Given the description of an element on the screen output the (x, y) to click on. 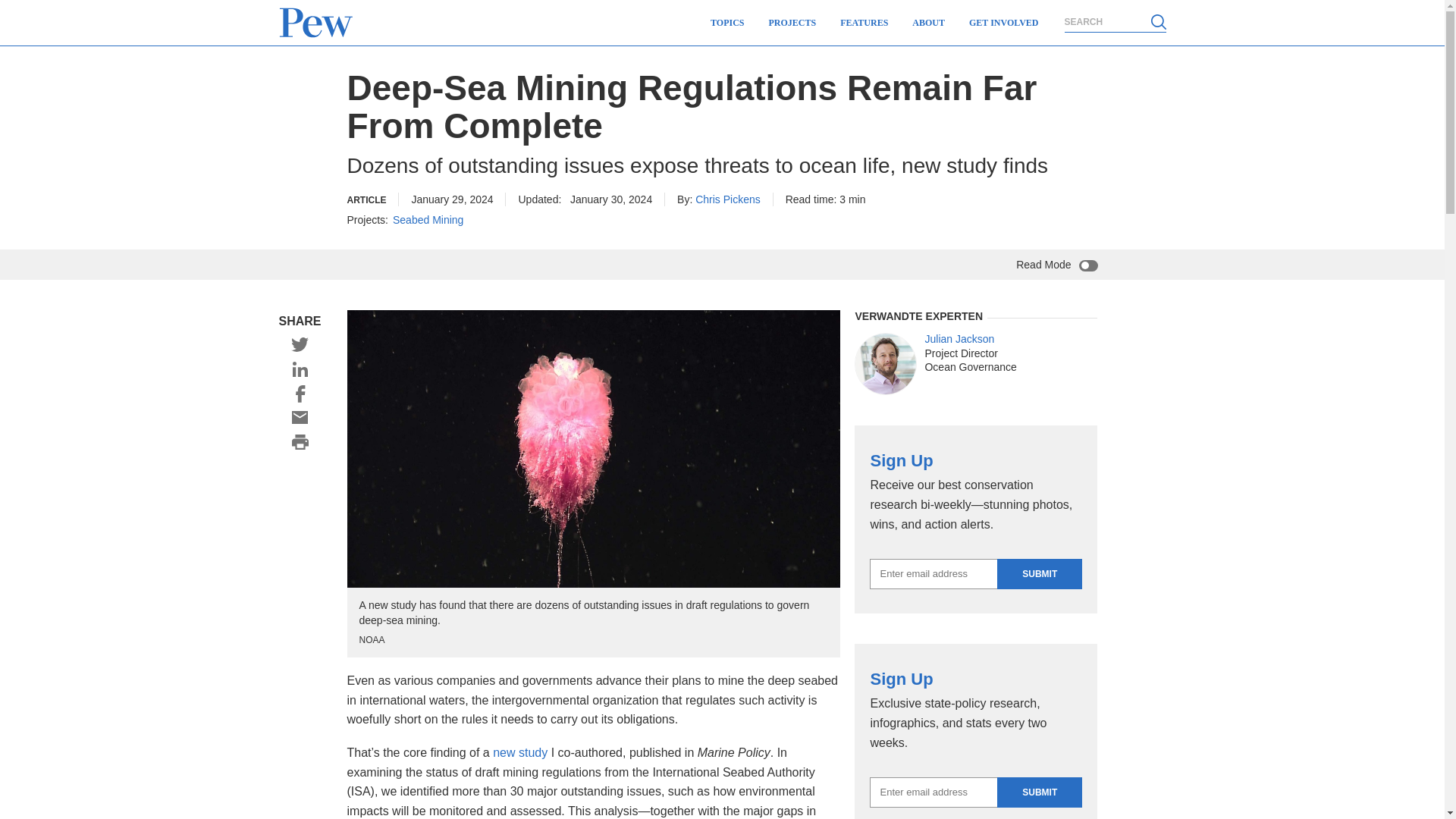
TOPICS (726, 22)
Julian Jackson (885, 363)
Submit (1039, 573)
PROJECTS (792, 22)
Submit (1039, 792)
